Given the description of an element on the screen output the (x, y) to click on. 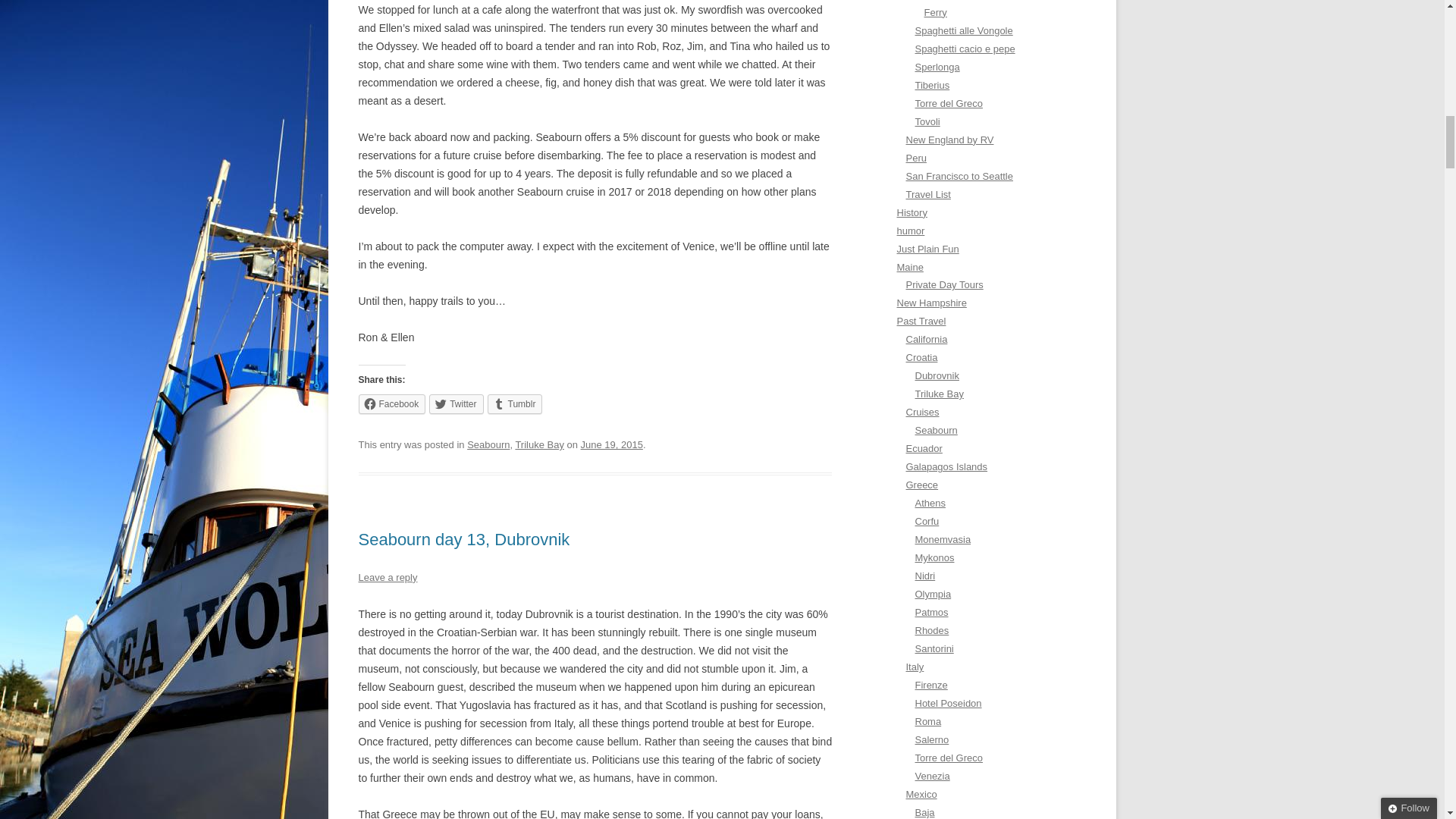
Seabourn day 13, Dubrovnik (463, 538)
Click to share on Tumblr (515, 403)
Twitter (456, 403)
Leave a reply (387, 577)
3:58 pm (611, 444)
June 19, 2015 (611, 444)
Facebook (391, 403)
Tumblr (515, 403)
Click to share on Twitter (456, 403)
Seabourn (488, 444)
Triluke Bay (539, 444)
Click to share on Facebook (391, 403)
